Given the description of an element on the screen output the (x, y) to click on. 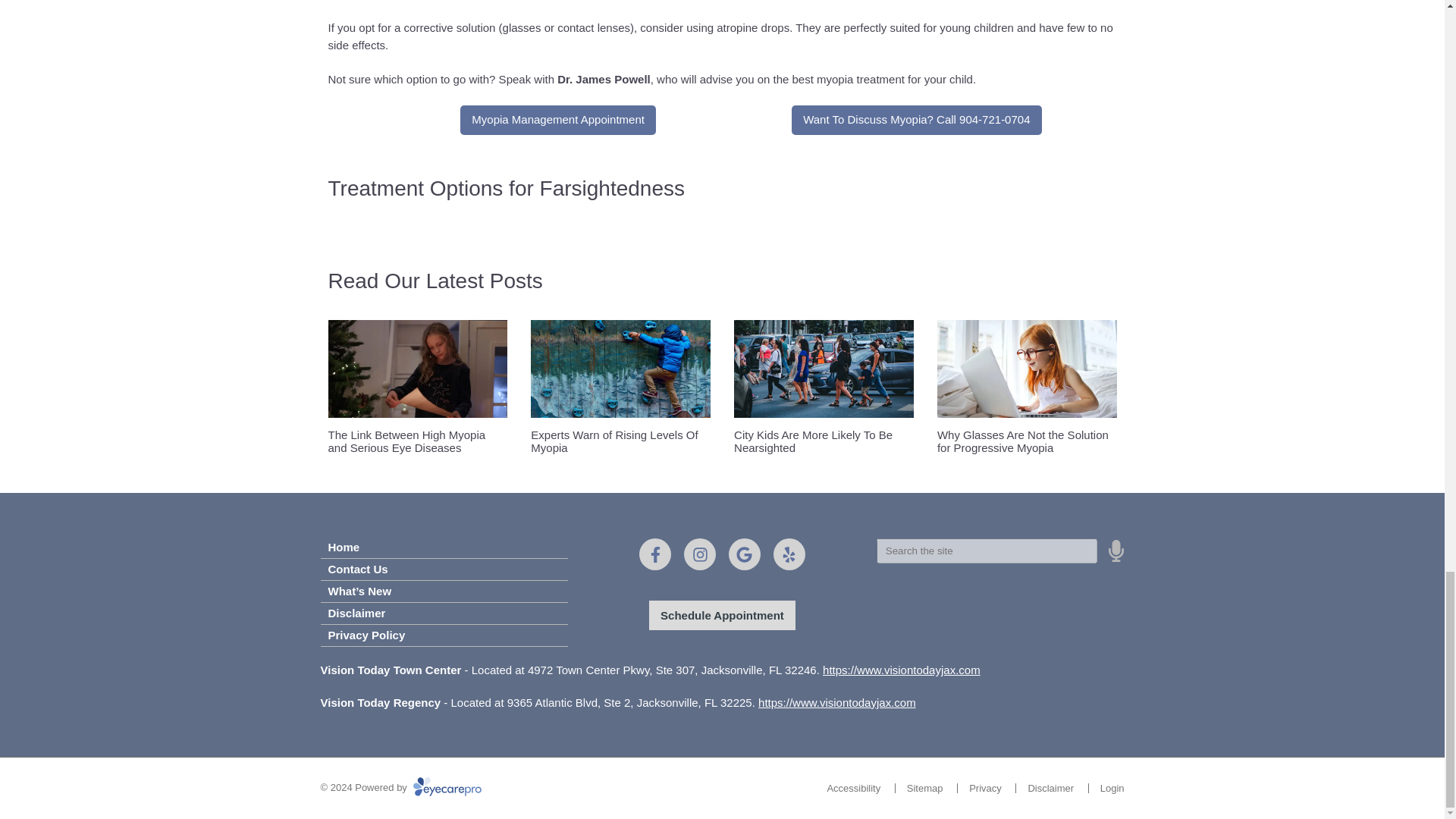
Myopia Management Appointment (558, 120)
Speak Field (986, 550)
